Given the description of an element on the screen output the (x, y) to click on. 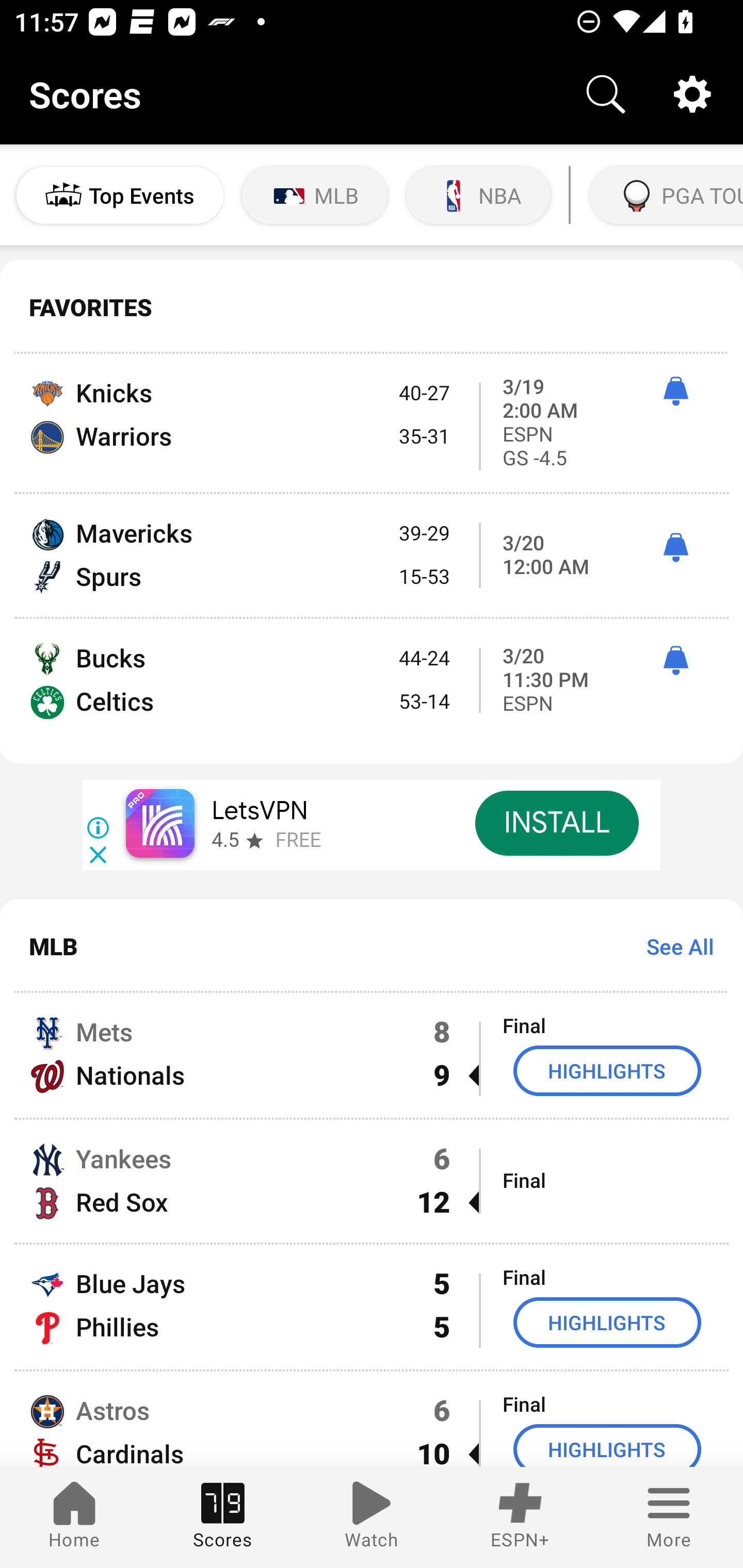
Search (605, 93)
Settings (692, 93)
 Top Events (119, 194)
MLB (314, 194)
NBA (477, 194)
PGA TOUR (664, 194)
FAVORITES (371, 307)
ì (675, 390)
Mavericks 39-29 Spurs 15-53 3/20 12:00 AM ì (371, 554)
ì (675, 547)
Bucks 44-24 Celtics 53-14 3/20 11:30 PM ì ESPN (371, 691)
ì (675, 660)
INSTALL (556, 823)
LetsVPN (259, 810)
MLB See All (371, 945)
See All (673, 946)
Mets 8 Final Nationals 9  HIGHLIGHTS (371, 1054)
HIGHLIGHTS (607, 1070)
Yankees 6 Red Sox 12  Final (371, 1180)
Blue Jays 5 Final Phillies 5 HIGHLIGHTS (371, 1306)
HIGHLIGHTS (607, 1322)
Astros 6 Final Cardinals 10  HIGHLIGHTS (371, 1419)
HIGHLIGHTS (607, 1445)
Home (74, 1517)
Watch (371, 1517)
ESPN+ (519, 1517)
More (668, 1517)
